Given the description of an element on the screen output the (x, y) to click on. 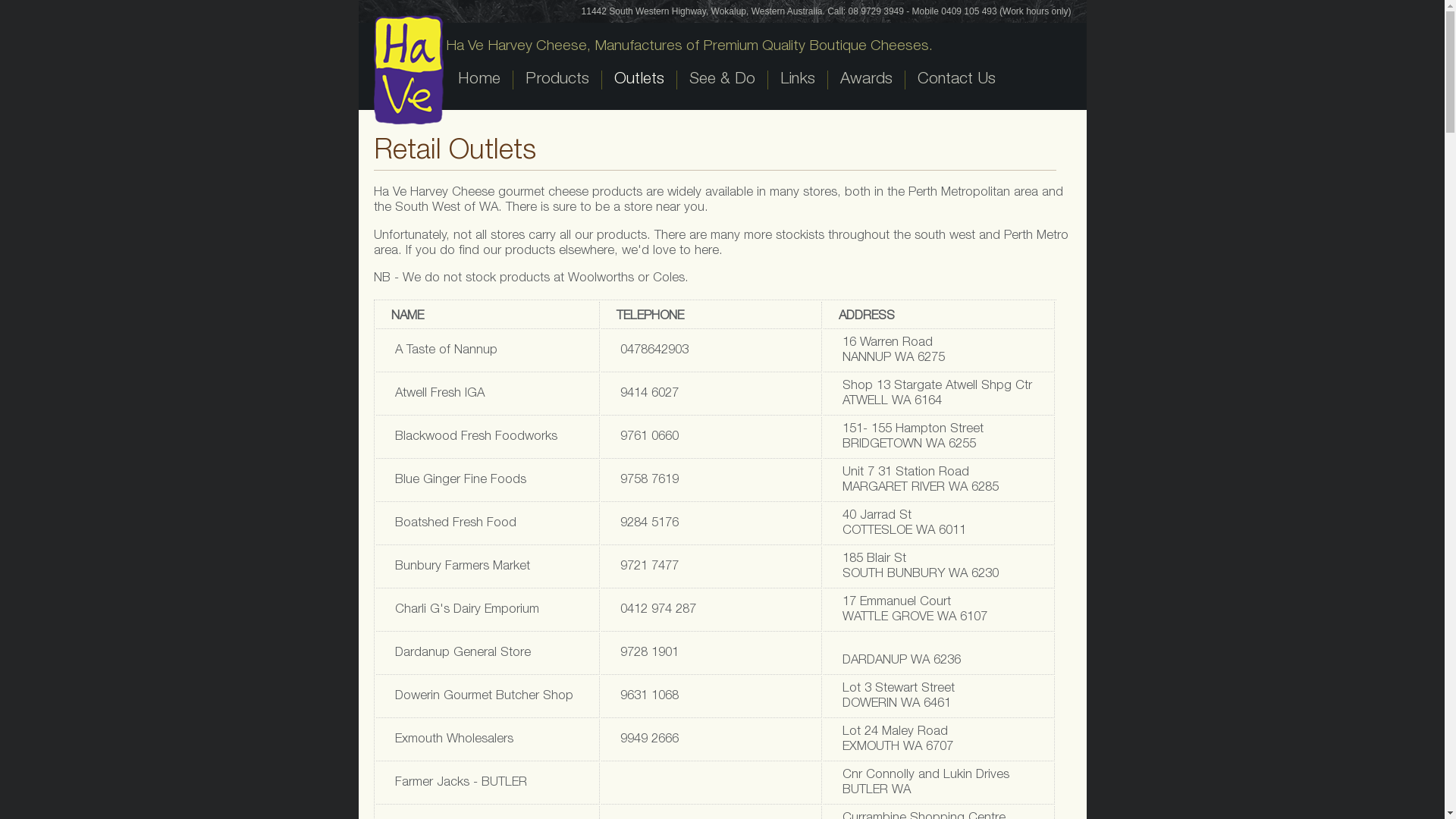
Home Element type: text (478, 79)
Contact Us Element type: text (955, 79)
Links Element type: text (797, 79)
See & Do Element type: text (721, 79)
Products Element type: text (556, 79)
Outlets Element type: text (637, 79)
Awards Element type: text (864, 79)
